Given the description of an element on the screen output the (x, y) to click on. 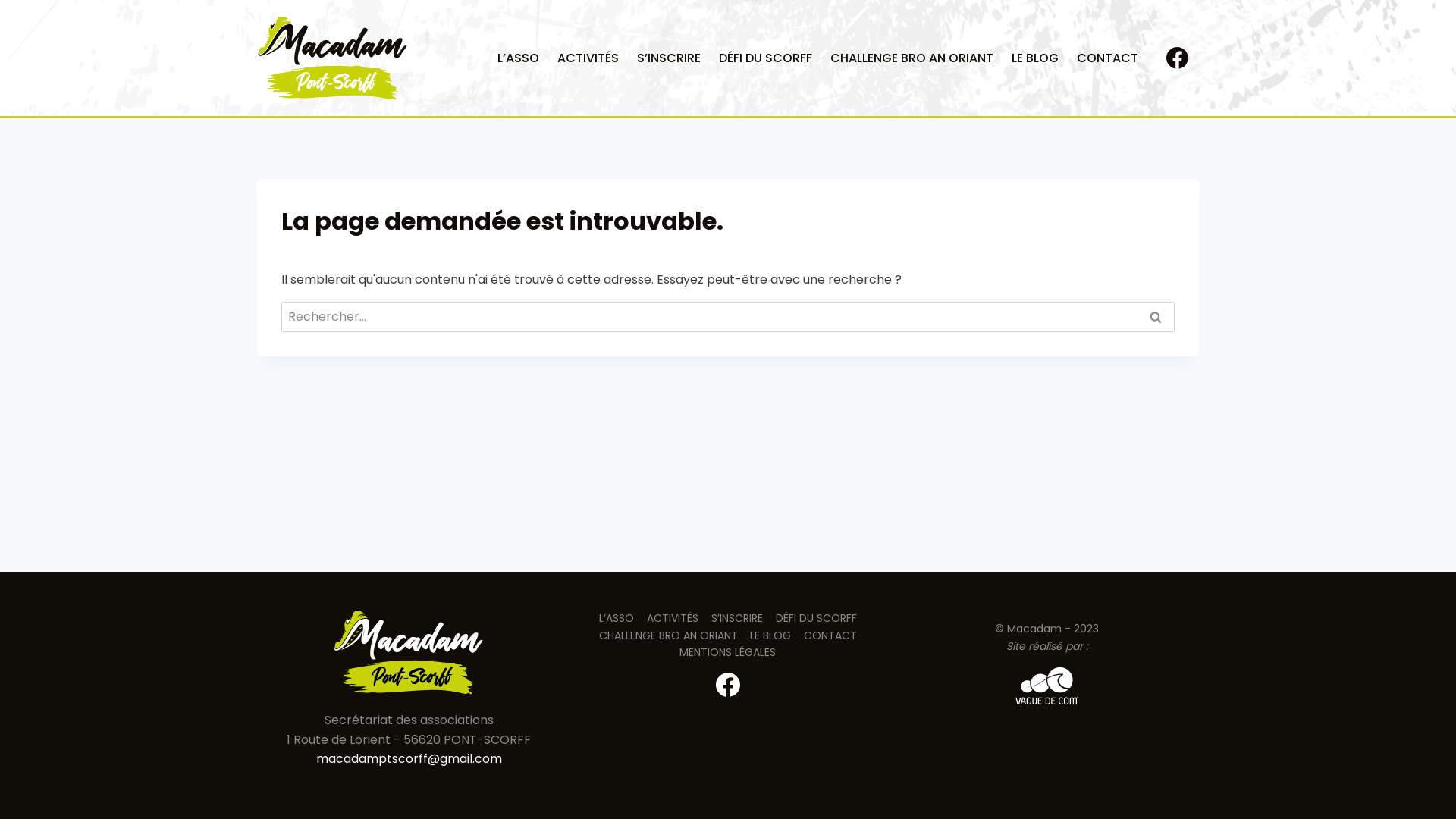
LE BLOG Element type: text (1034, 57)
CHALLENGE BRO AN ORIANT Element type: text (911, 57)
LE BLOG Element type: text (770, 635)
CHALLENGE BRO AN ORIANT Element type: text (667, 635)
CONTACT Element type: text (830, 635)
CONTACT Element type: text (1107, 57)
Rechercher Element type: text (1155, 316)
